Given the description of an element on the screen output the (x, y) to click on. 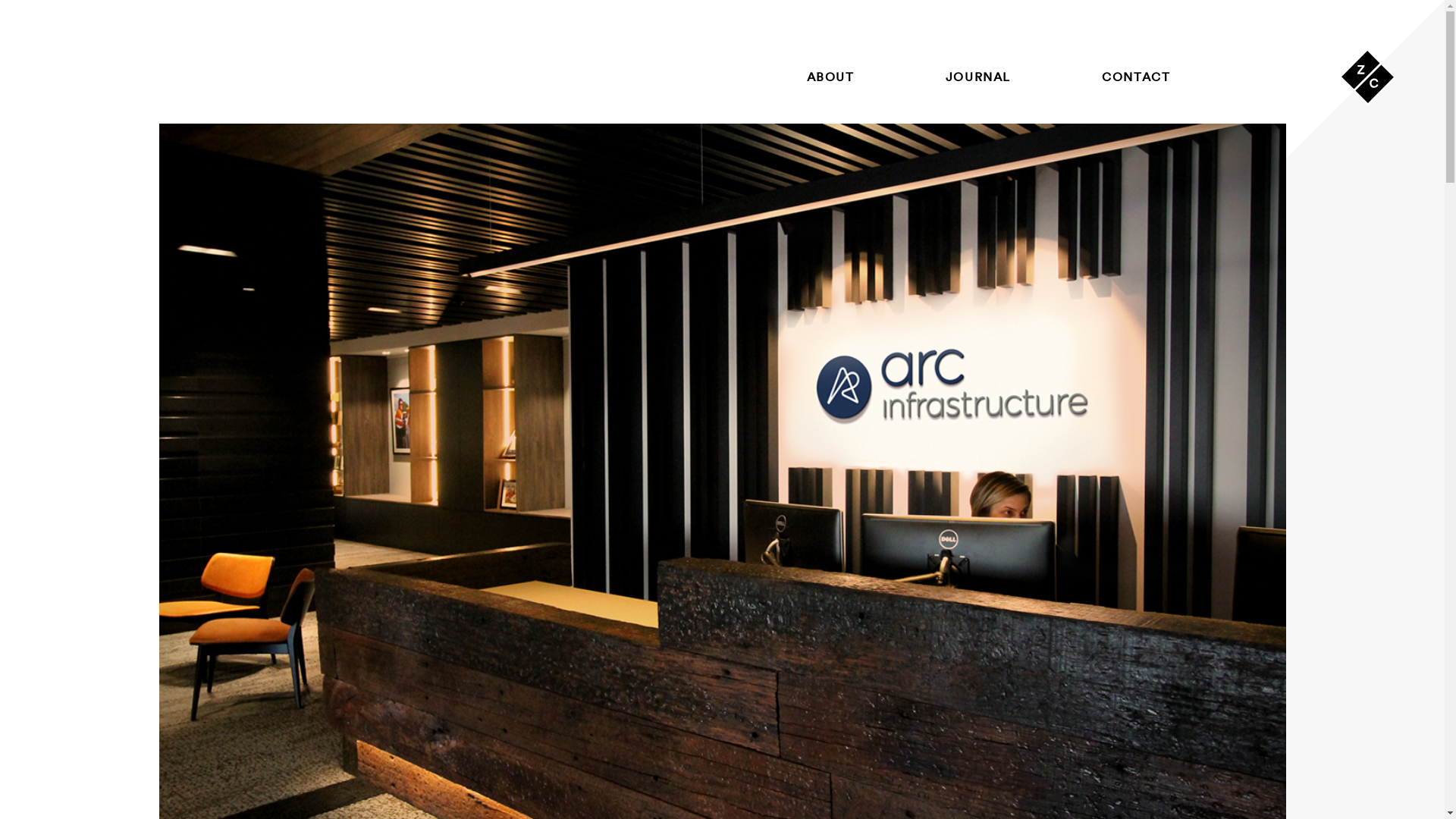
JOURNAL Element type: text (977, 77)
ABOUT Element type: text (830, 77)
CONTACT Element type: text (1135, 77)
